Given the description of an element on the screen output the (x, y) to click on. 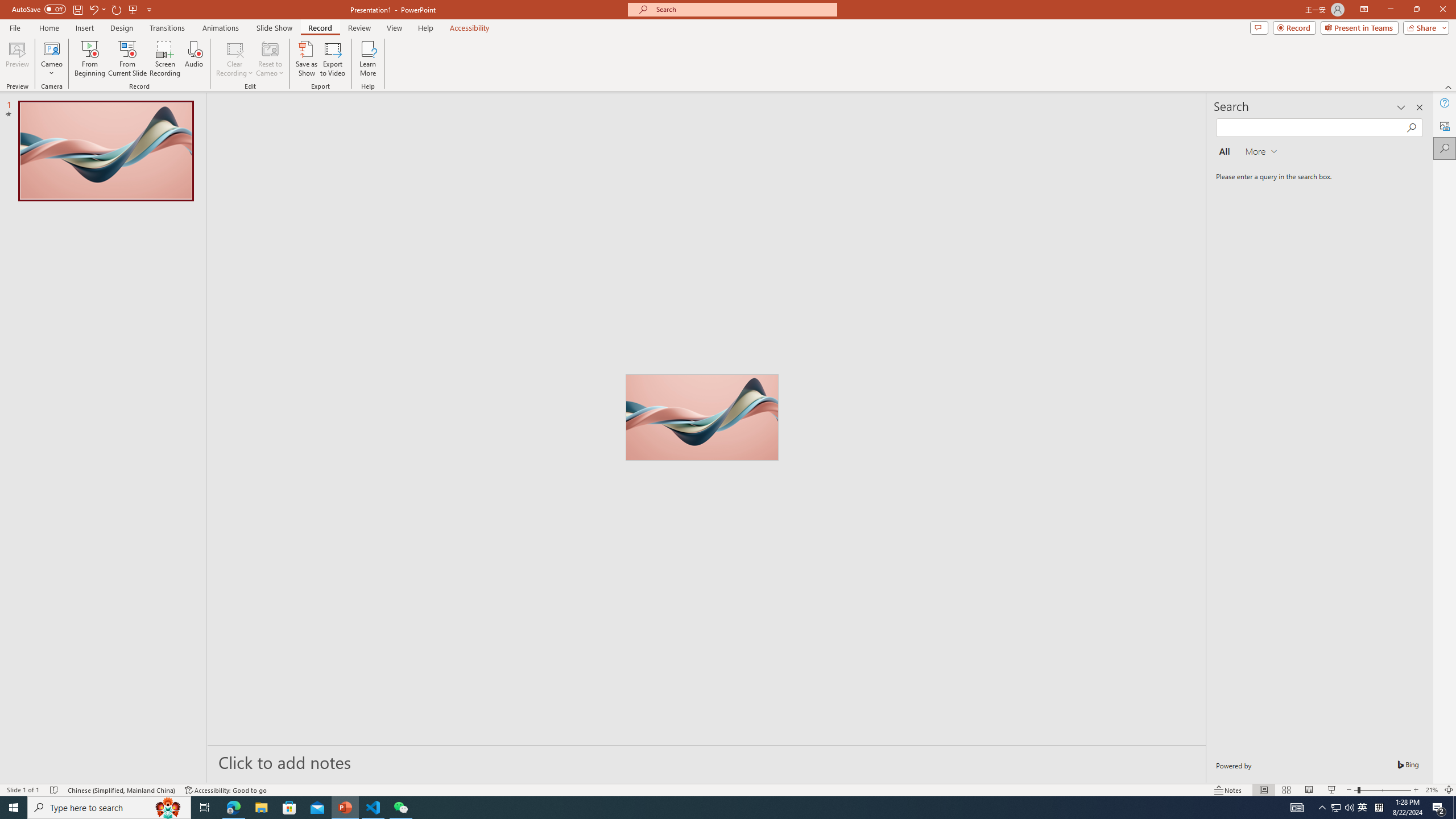
Accessibility Checker Accessibility: Good to go (226, 790)
